Given the description of an element on the screen output the (x, y) to click on. 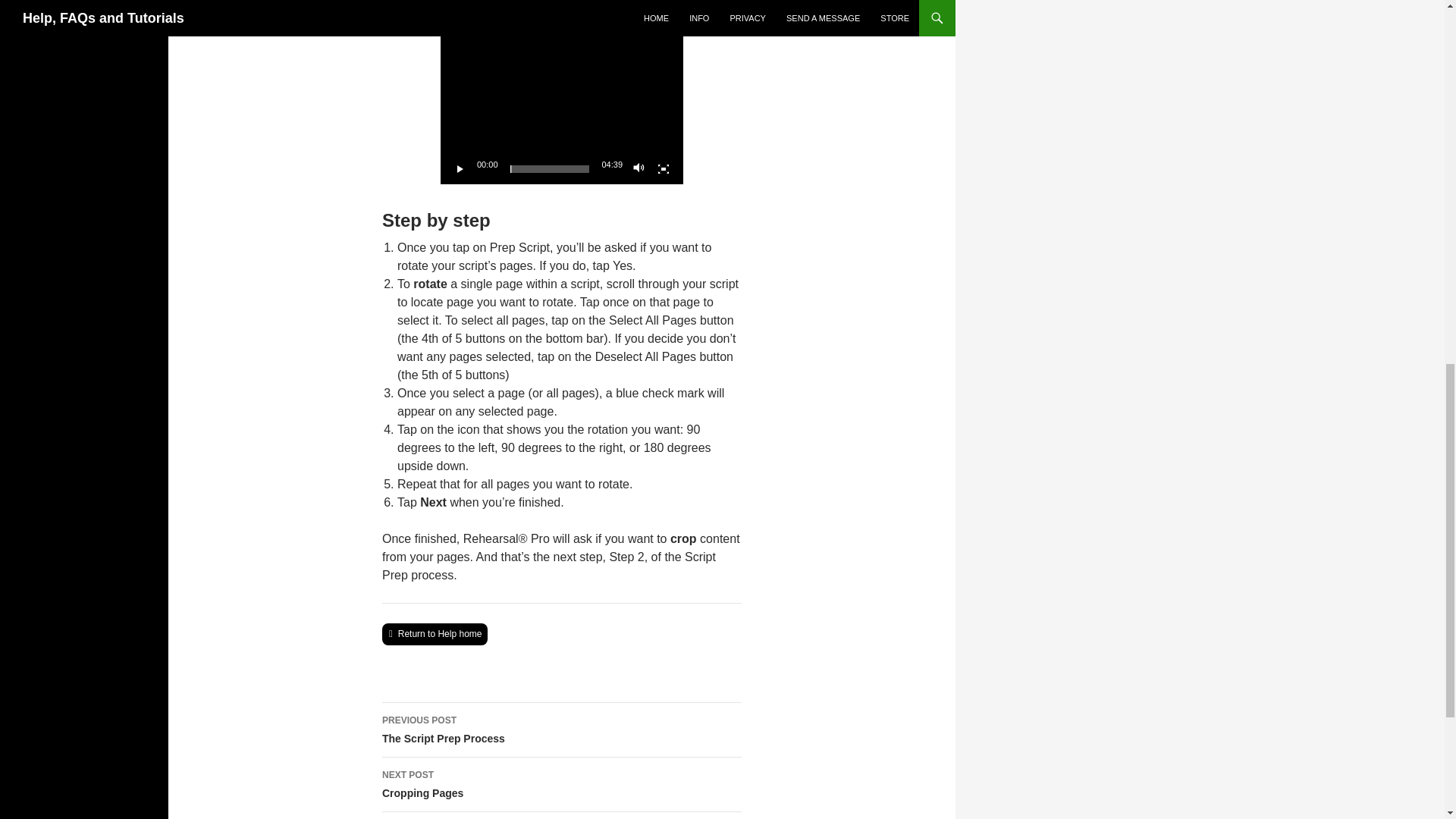
Mute (561, 729)
Return to Help home (638, 168)
Play (434, 634)
Fullscreen (459, 168)
